Given the description of an element on the screen output the (x, y) to click on. 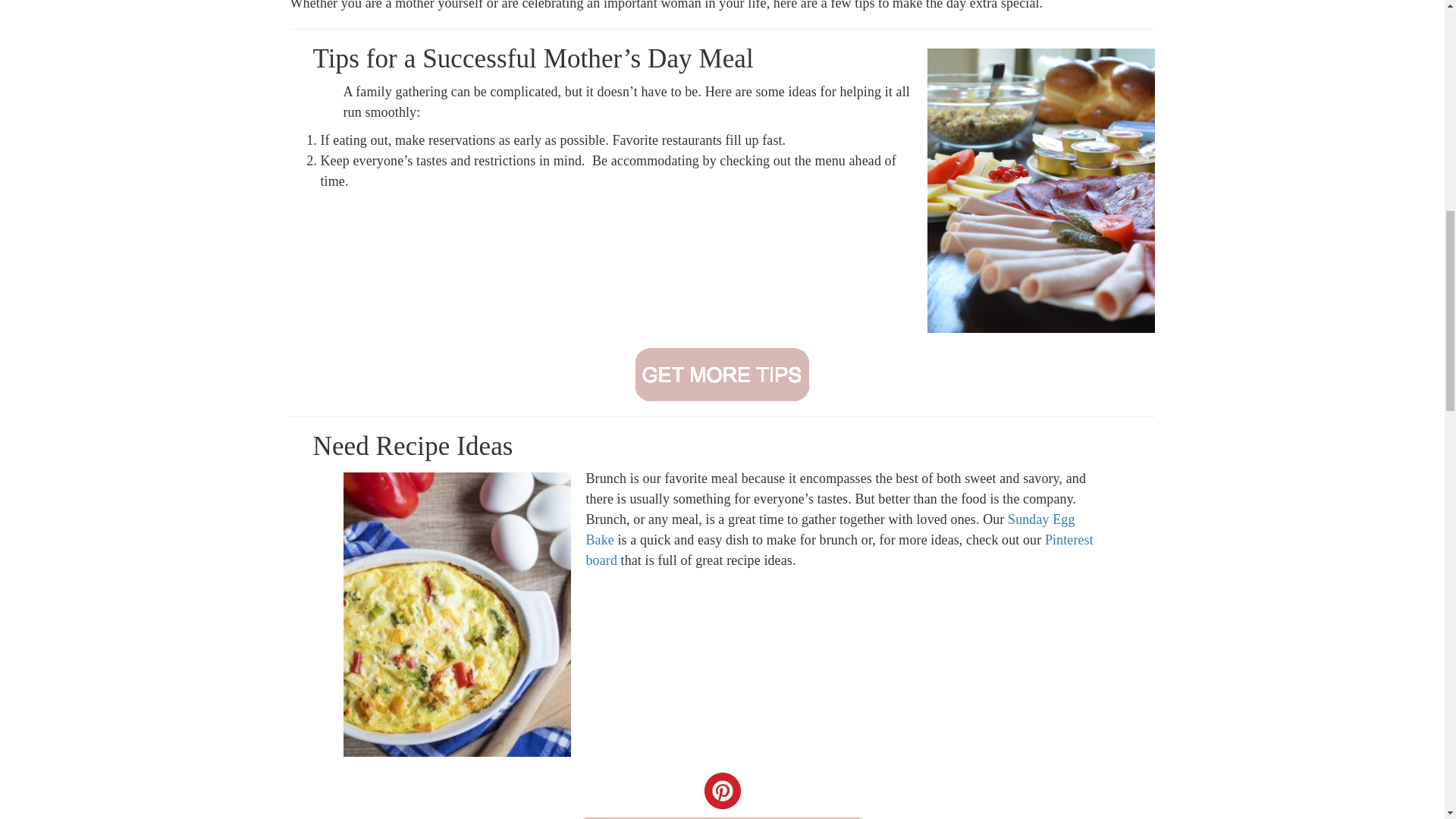
Pinterest board (839, 550)
Sunday Egg Bake (829, 529)
